Given the description of an element on the screen output the (x, y) to click on. 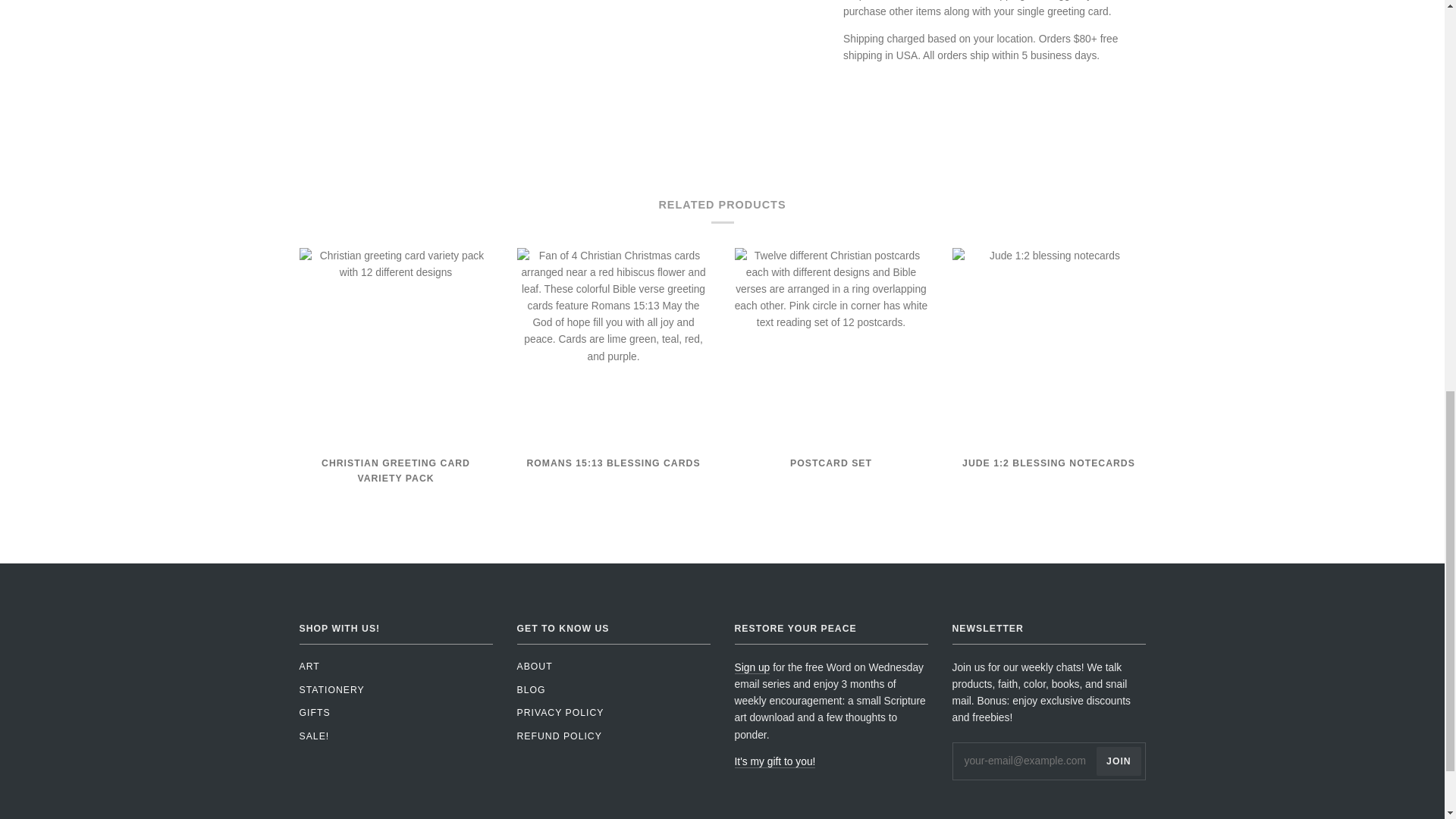
Sign up for the Word on Wednesday email series (751, 667)
subscribe to the Word on Wednesday email series (774, 761)
